Given the description of an element on the screen output the (x, y) to click on. 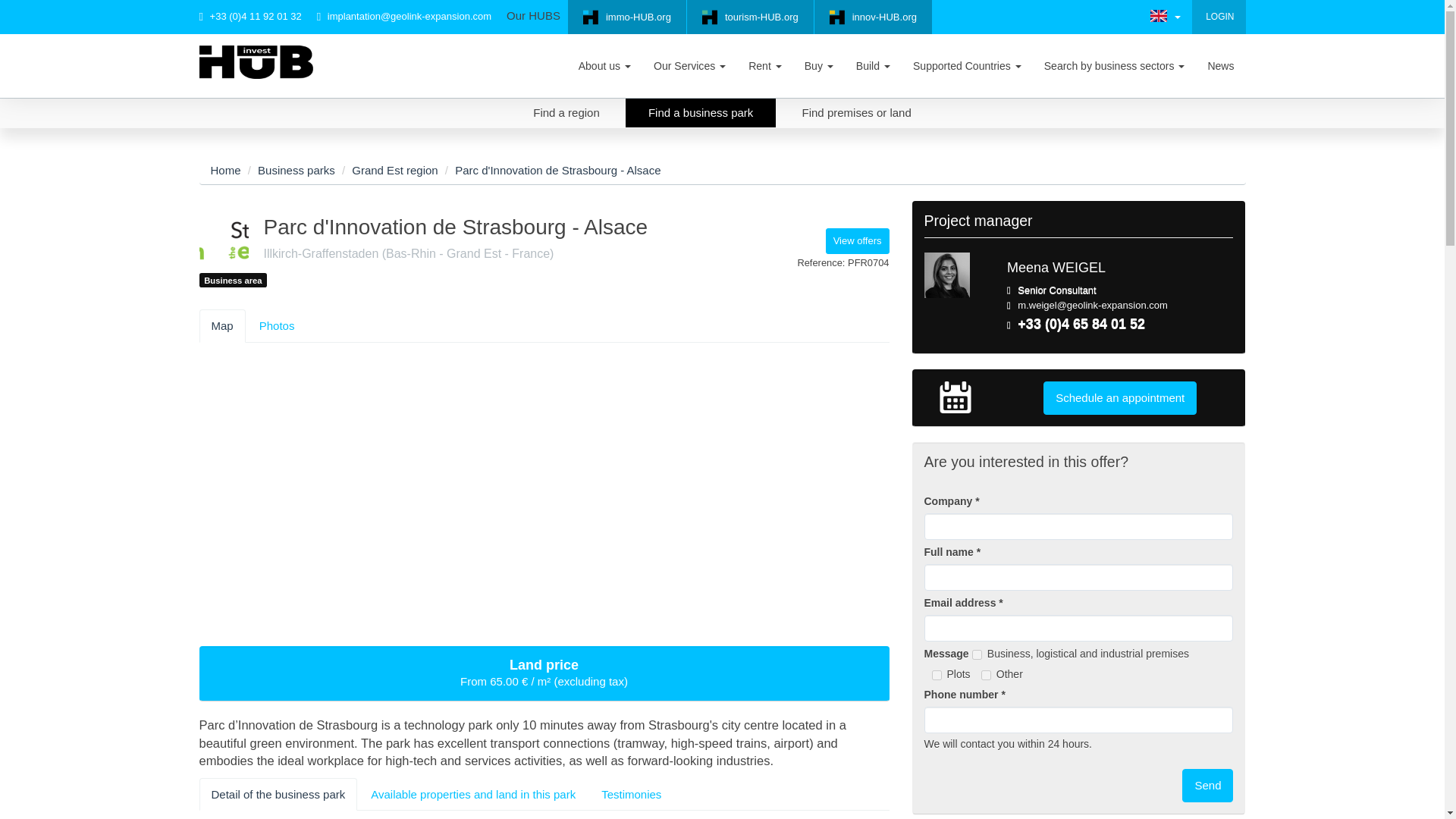
10 (976, 655)
20 (935, 675)
immo-HUB.org (626, 17)
LOGIN (1219, 15)
tourism-HUB.org (750, 17)
About us (604, 65)
30 (986, 675)
Our Services (689, 65)
About us (604, 65)
innov-HUB.org (872, 17)
